Given the description of an element on the screen output the (x, y) to click on. 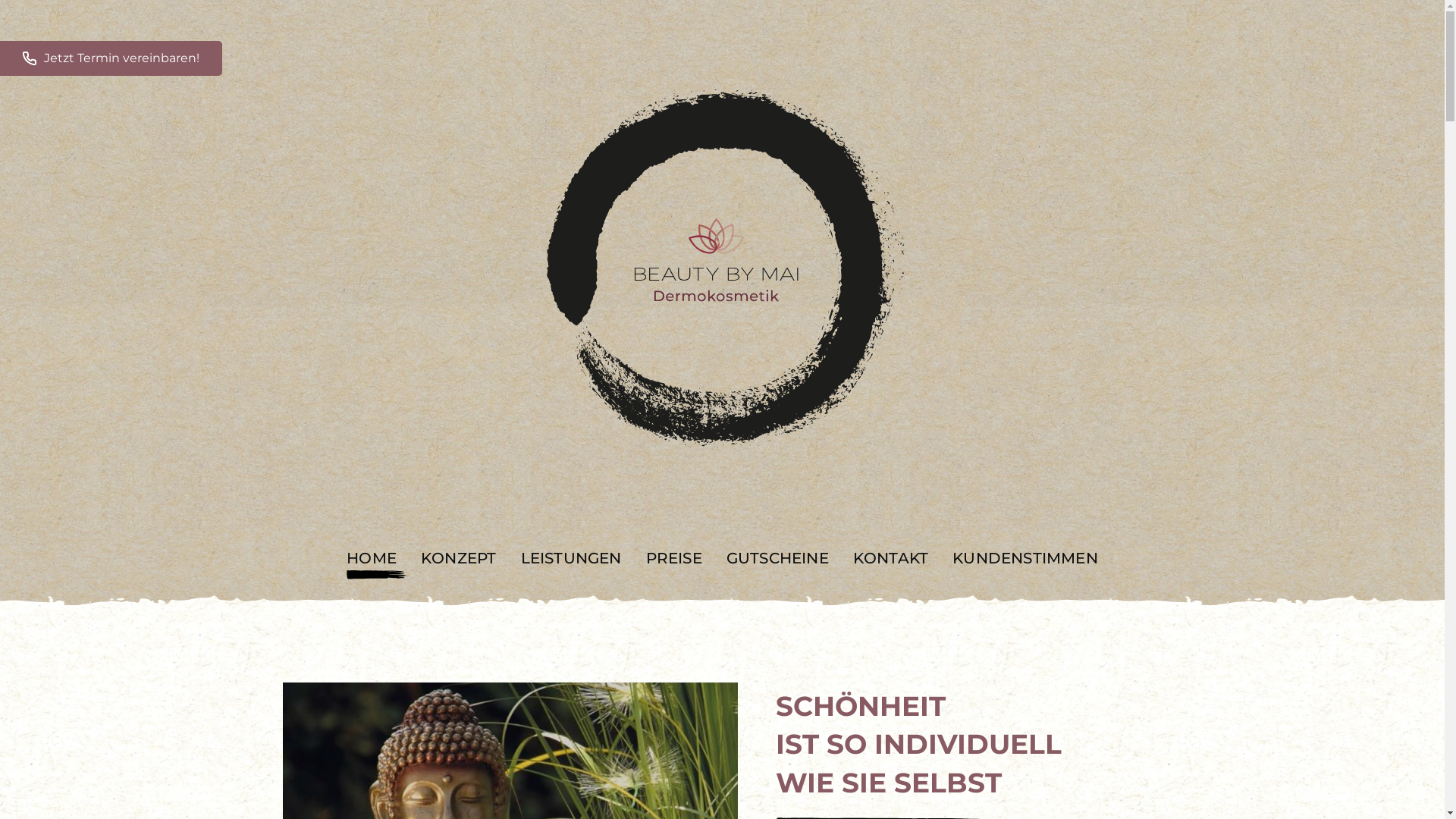
HOME Element type: text (371, 557)
LEISTUNGEN Element type: text (570, 557)
KONTAKT Element type: text (890, 557)
Jetzt Termin vereinbaren! Element type: text (111, 57)
GUTSCHEINE Element type: text (777, 557)
PREISE Element type: text (673, 557)
KONZEPT Element type: text (458, 557)
KUNDENSTIMMEN Element type: text (1025, 557)
